Given the description of an element on the screen output the (x, y) to click on. 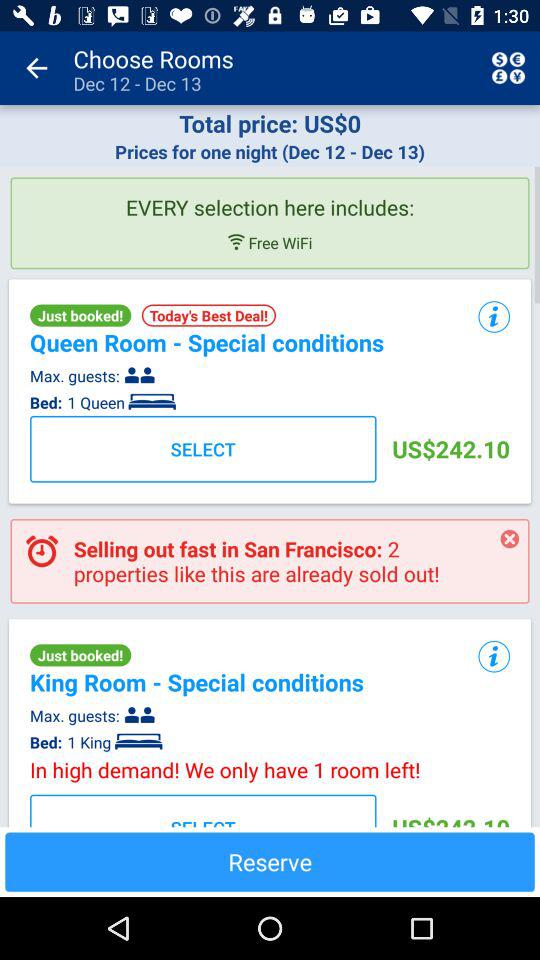
select the reserve item (269, 861)
